Given the description of an element on the screen output the (x, y) to click on. 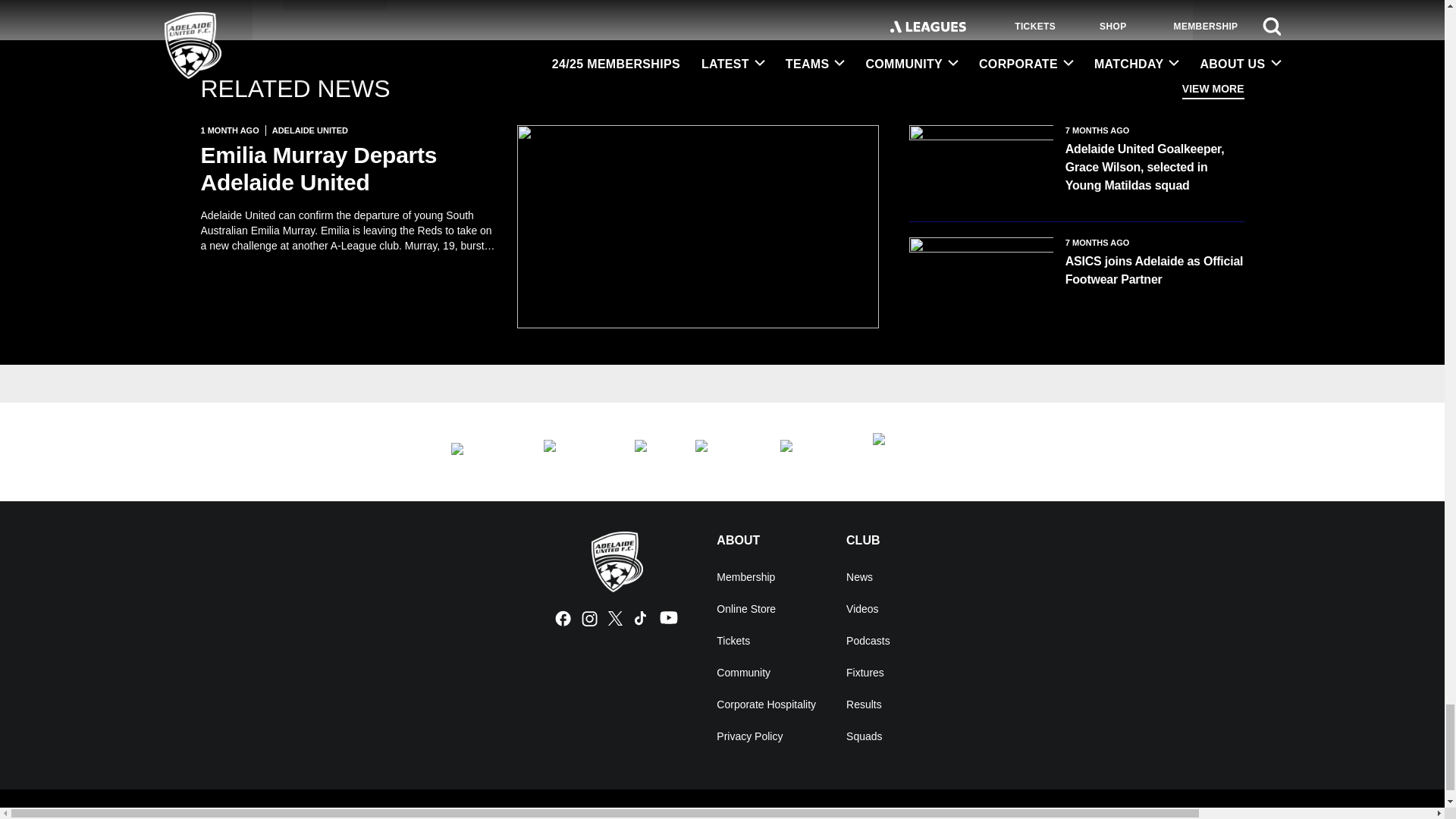
Flinders University (480, 452)
Kite Property (721, 451)
UCAN (573, 451)
